Given the description of an element on the screen output the (x, y) to click on. 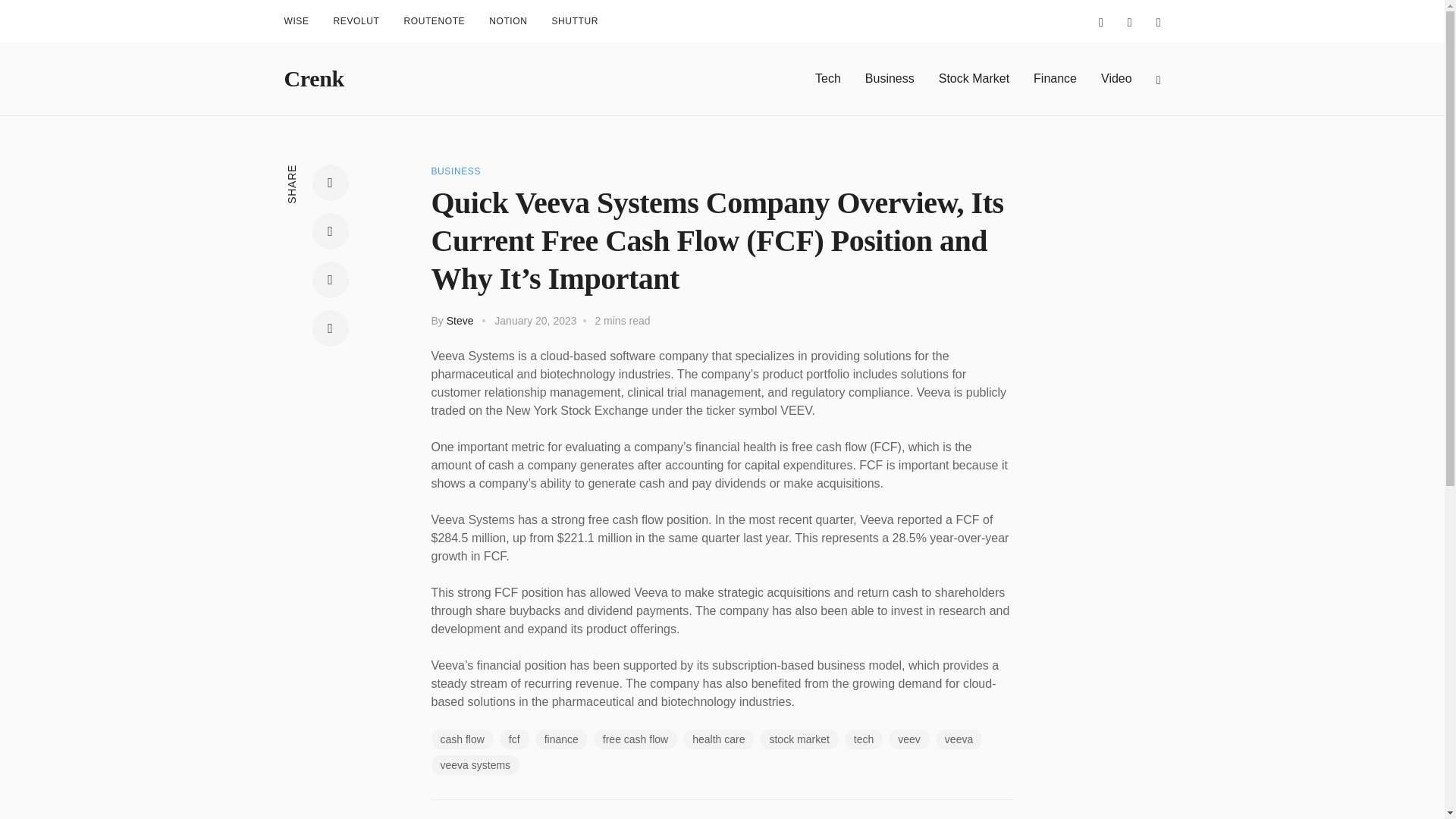
Steve (460, 320)
veeva (958, 739)
NOTION (508, 20)
Tech (828, 78)
free cash flow (635, 739)
stock market (799, 739)
Video (1116, 78)
SHUTTUR (574, 20)
fcf (514, 739)
Twitter (331, 230)
